Given the description of an element on the screen output the (x, y) to click on. 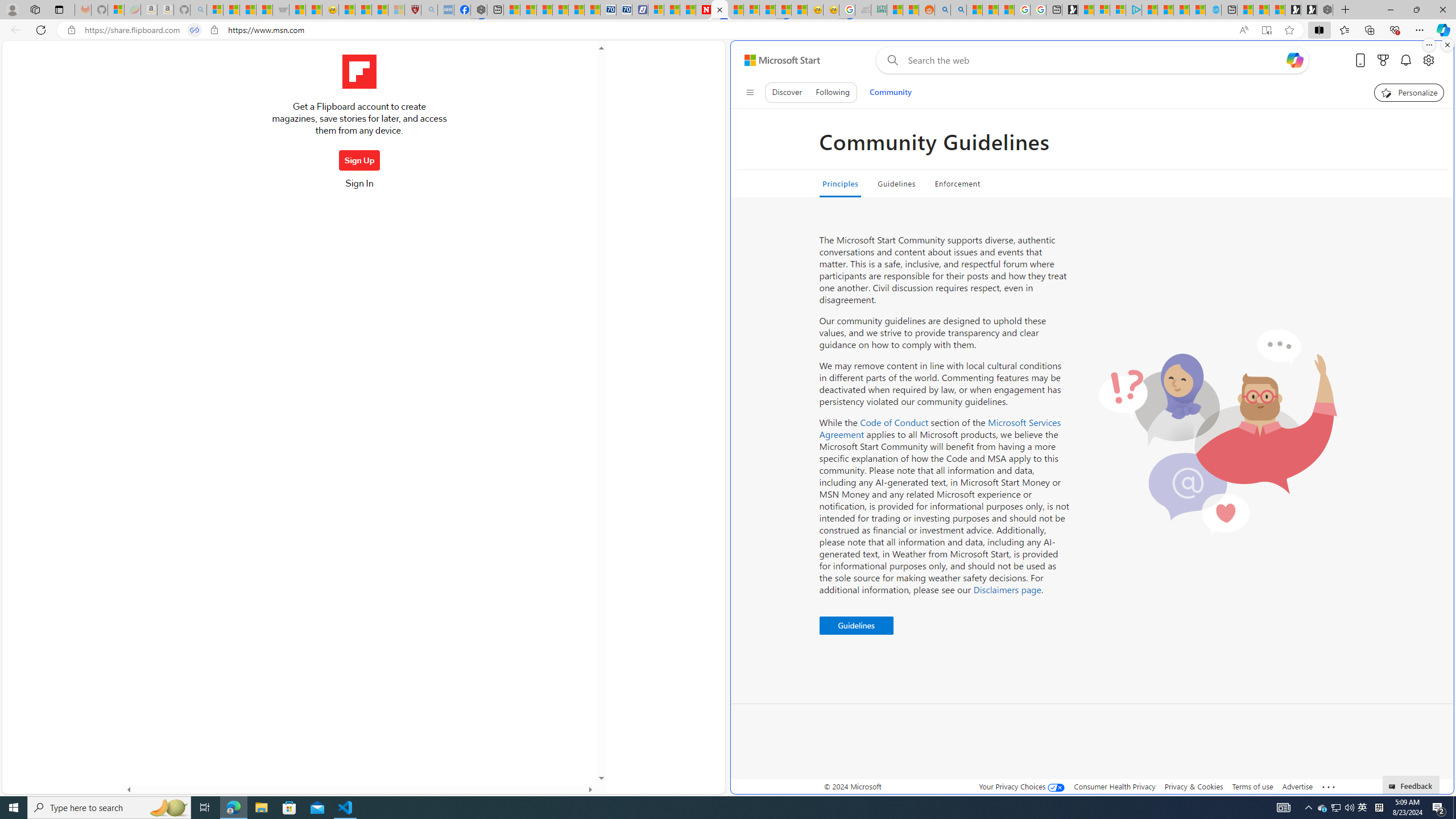
Recipes - MSN (346, 9)
Sign Up (359, 159)
Tabs in split screen (194, 29)
Home | Sky Blue Bikes - Sky Blue Bikes (1213, 9)
Newsweek - News, Analysis, Politics, Business, Technology (703, 9)
Cheap Car Rentals - Save70.com (608, 9)
